Given the description of an element on the screen output the (x, y) to click on. 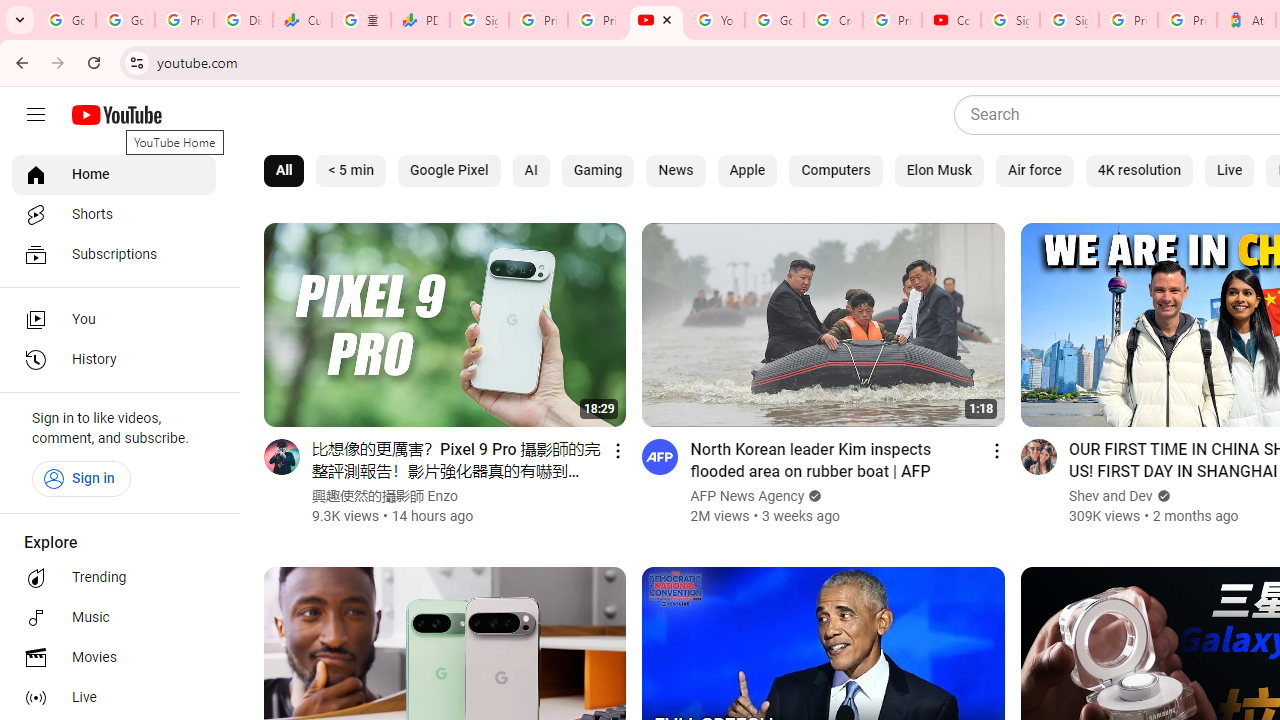
News (676, 170)
History (113, 359)
YouTube Home (116, 115)
Create your Google Account (832, 20)
Gaming (597, 170)
